Given the description of an element on the screen output the (x, y) to click on. 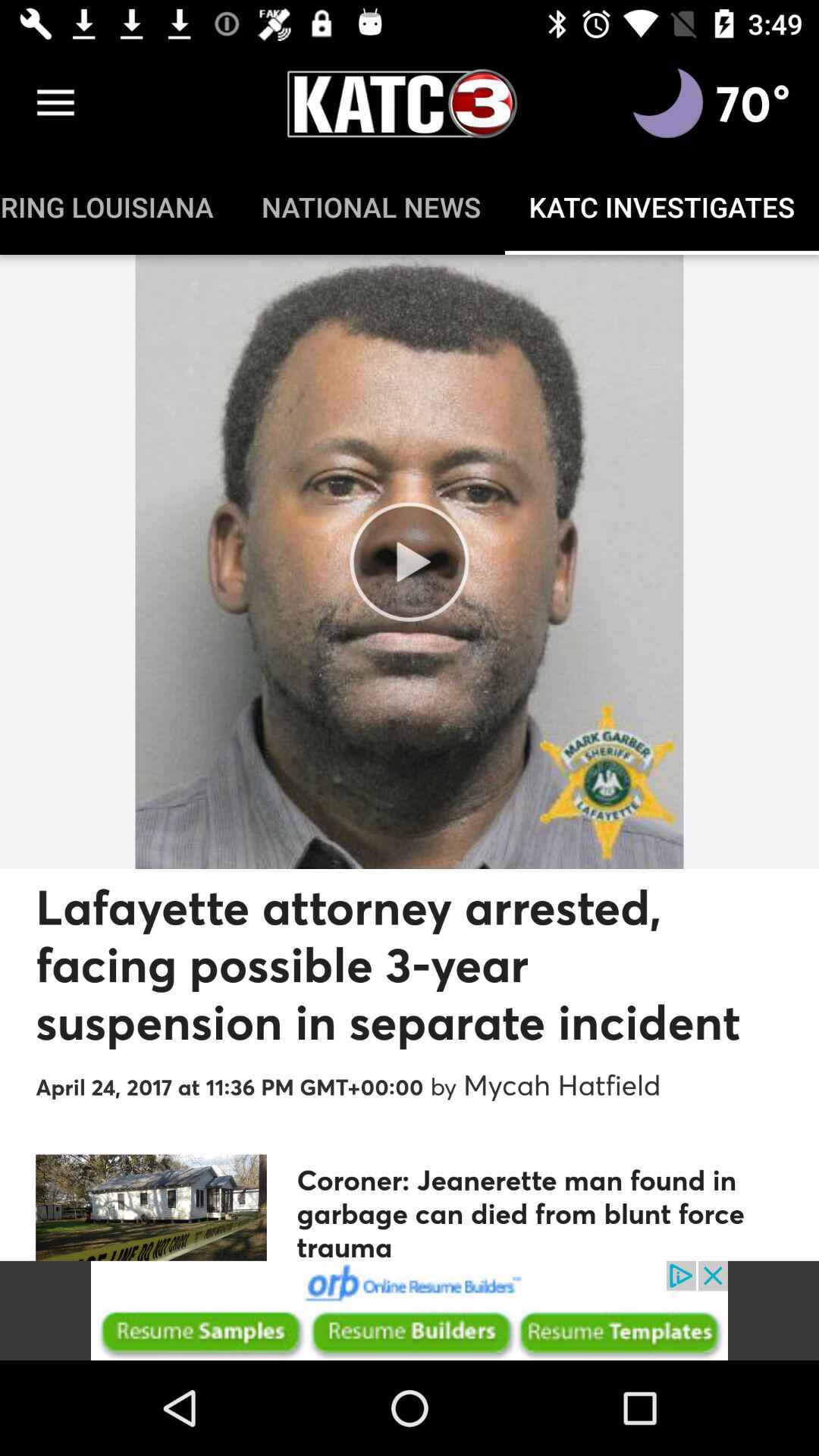
moon phase (668, 103)
